Given the description of an element on the screen output the (x, y) to click on. 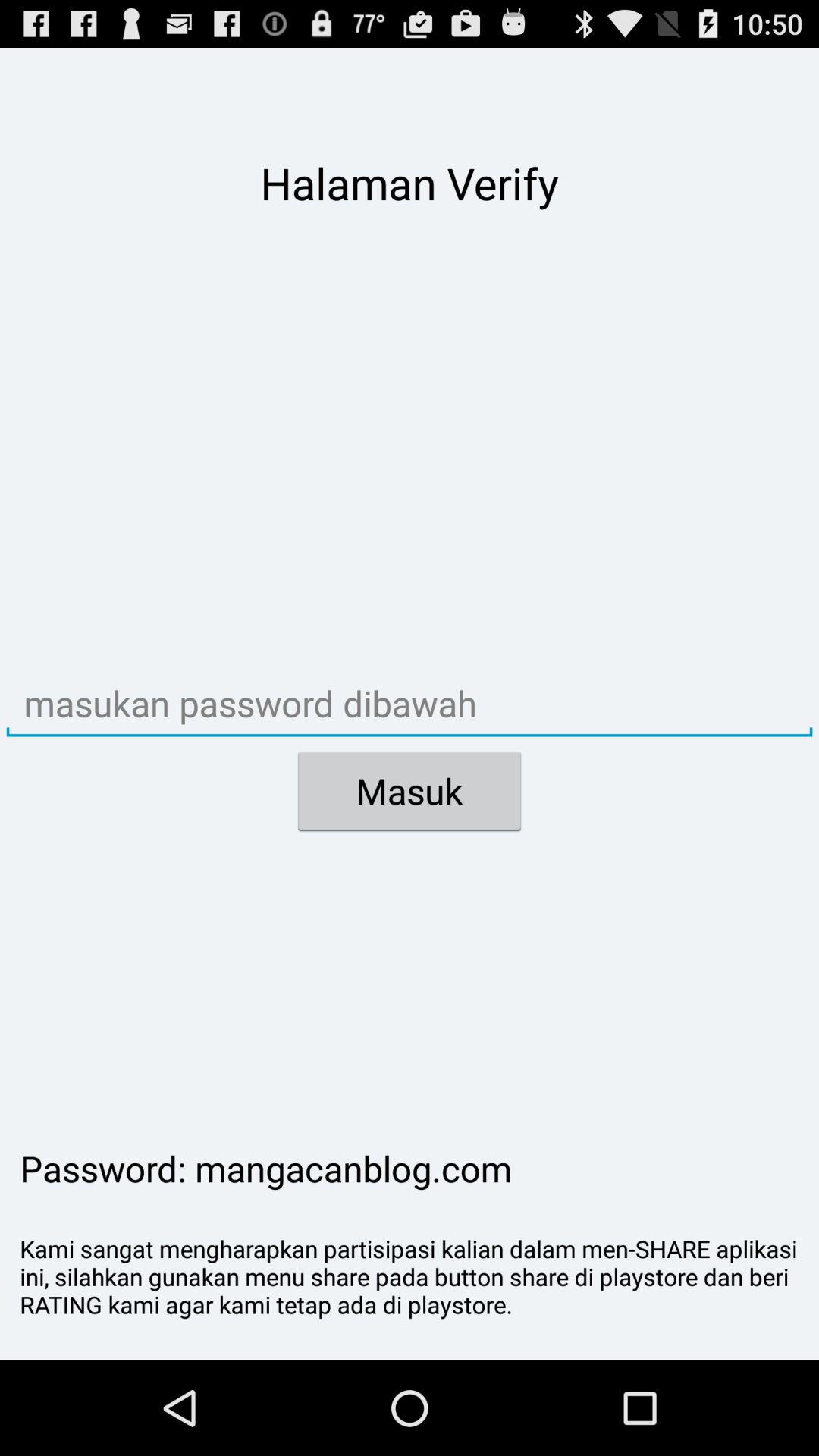
flip to masuk icon (409, 790)
